Given the description of an element on the screen output the (x, y) to click on. 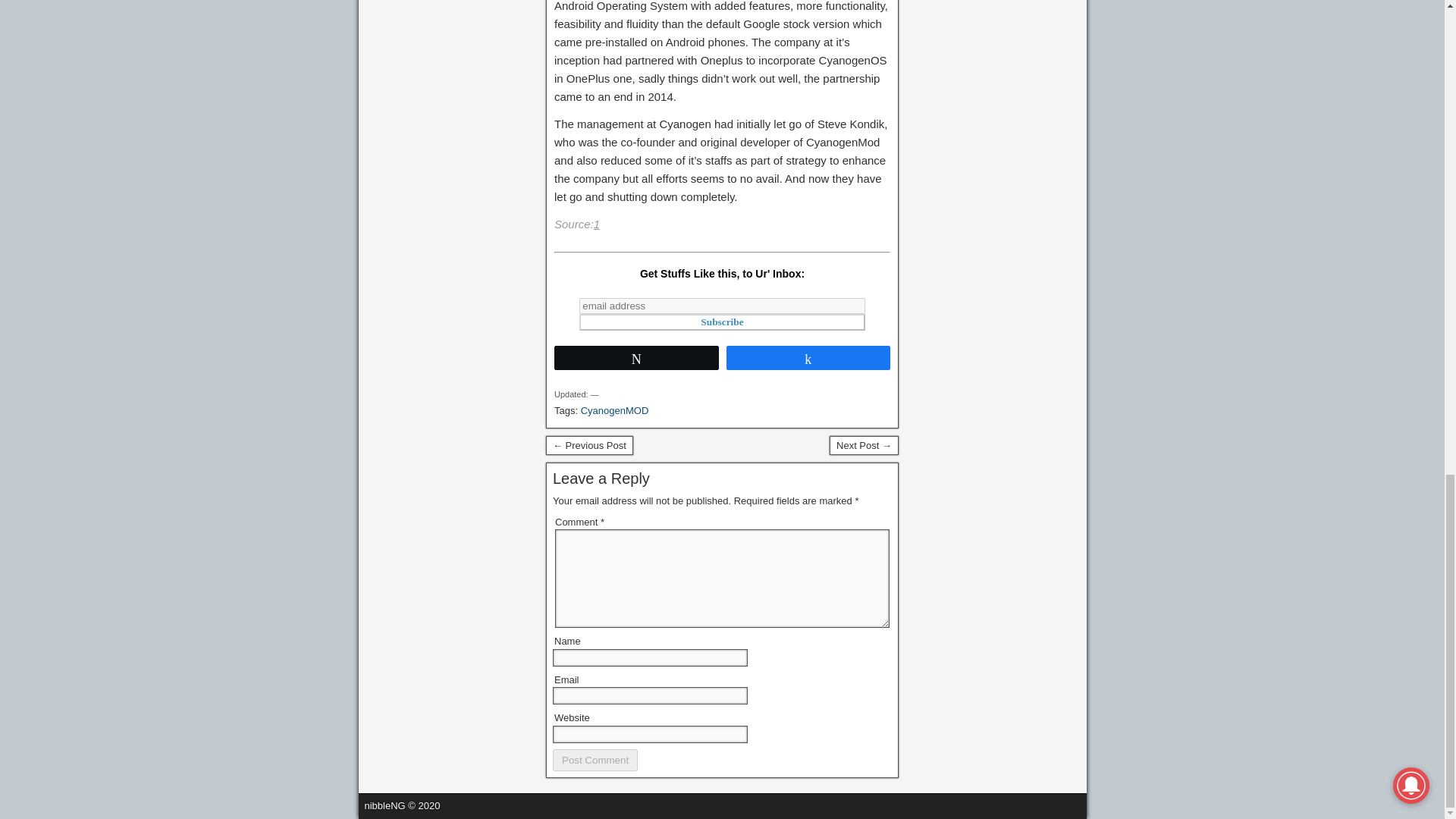
Subscribe (721, 321)
Post Comment (595, 760)
Post Comment (595, 760)
Subscribe (721, 321)
CyanogenMOD (614, 410)
